Given the description of an element on the screen output the (x, y) to click on. 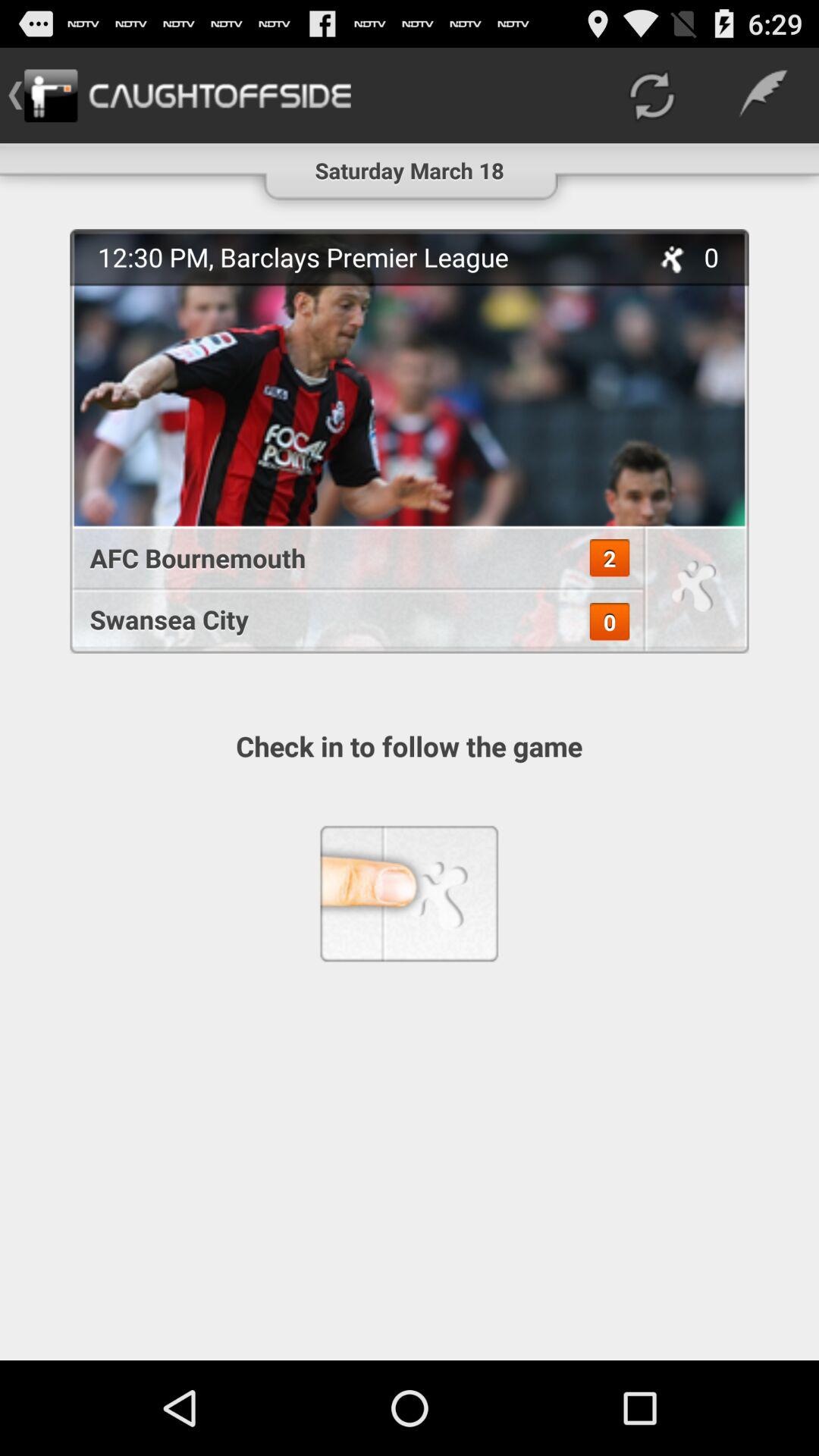
launch the 12 30 pm (364, 256)
